Given the description of an element on the screen output the (x, y) to click on. 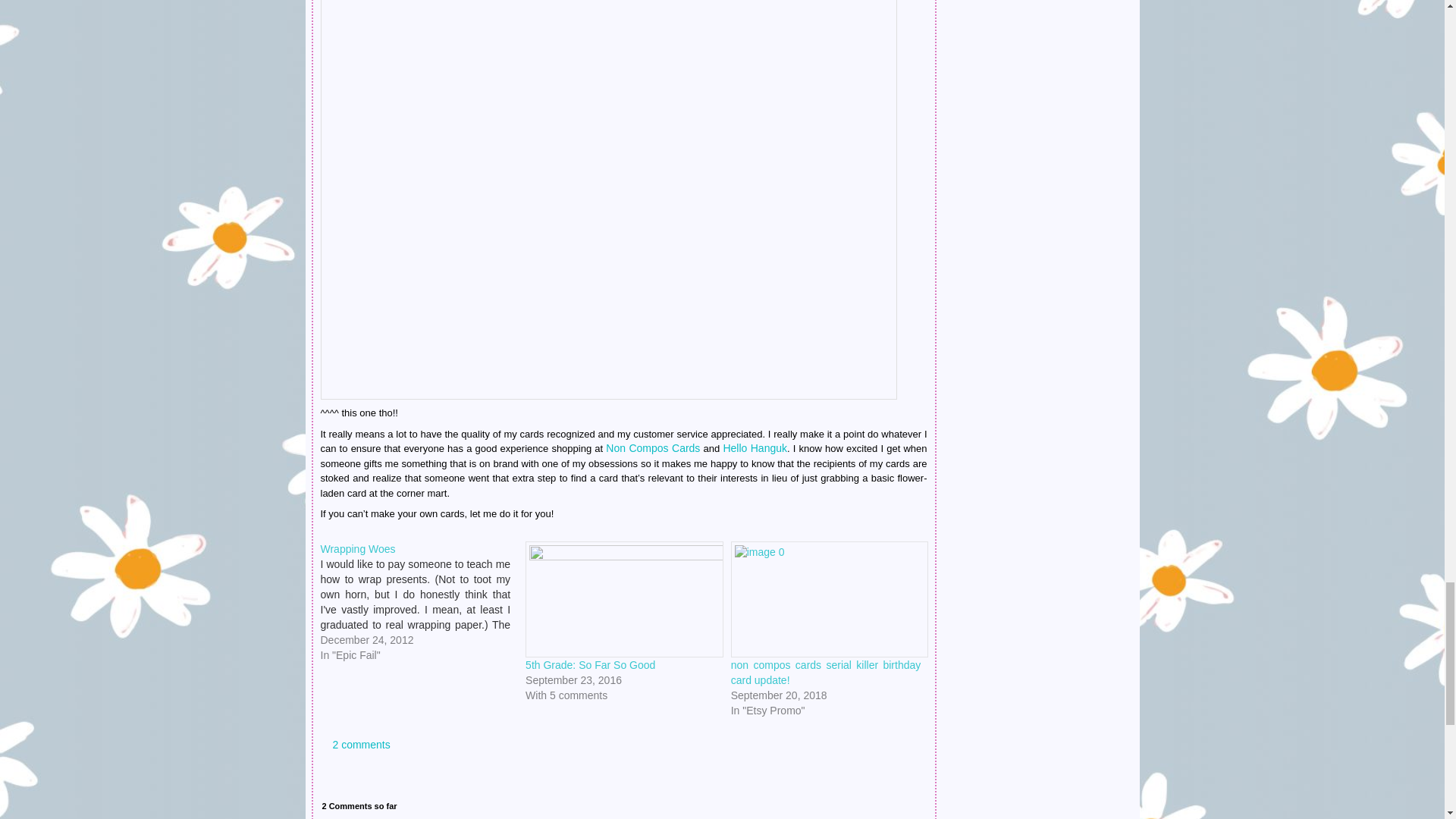
Hello Hanguk (754, 448)
Non Compos Cards (652, 448)
5th Grade: So Far So Good (590, 664)
non compos cards serial killer birthday card update! (825, 672)
Wrapping Woes (357, 548)
2 comments (355, 744)
